Given the description of an element on the screen output the (x, y) to click on. 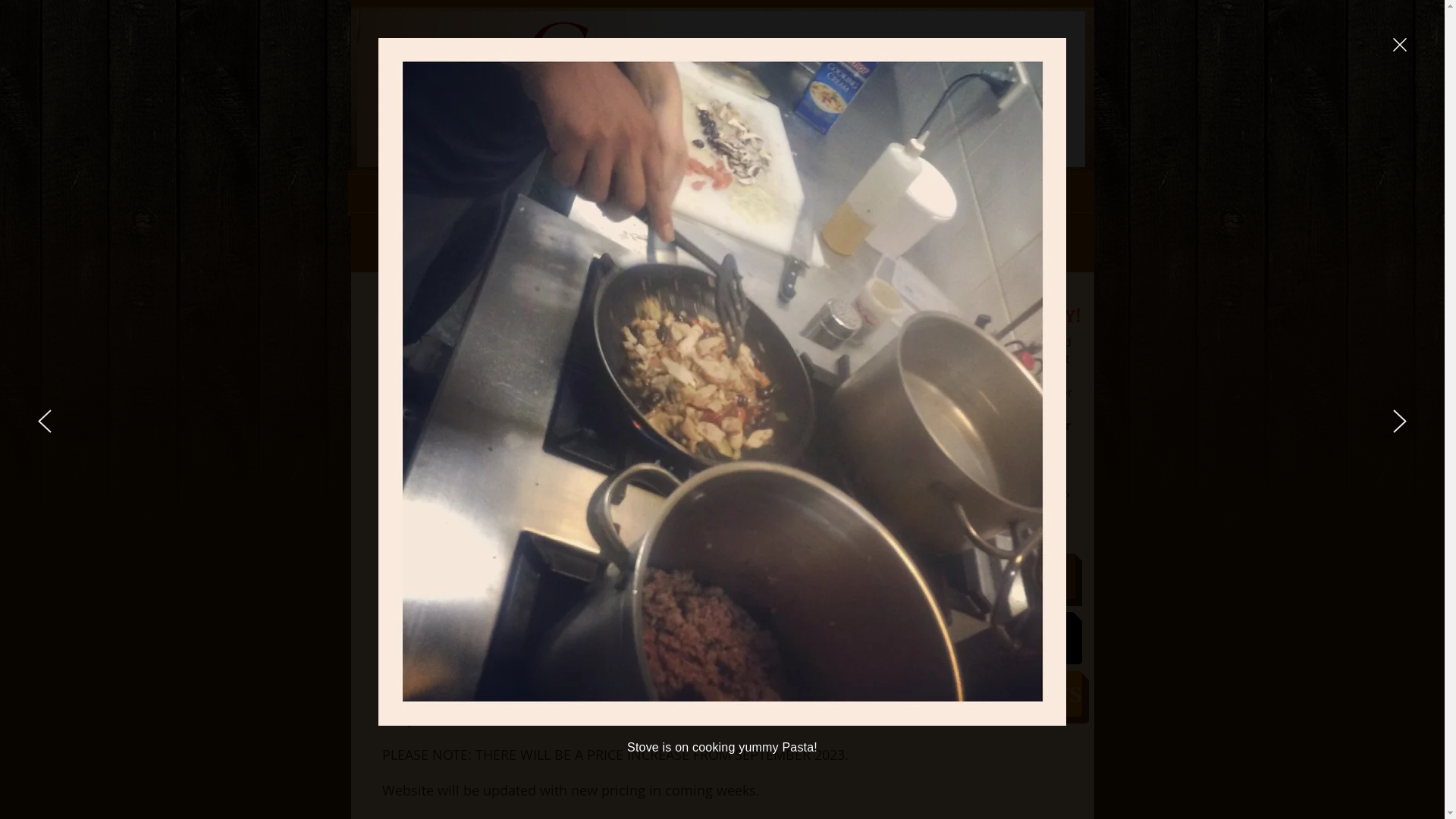
PASTA Element type: text (985, 633)
SIDES/DESSERTS Element type: text (989, 692)
PIZZA Element type: text (985, 576)
DELIVERY AREAS Element type: text (924, 192)
HOME Element type: text (521, 192)
header-bg.jpg Element type: hover (720, 88)
MENU Element type: text (789, 192)
ABOUT US Element type: text (655, 192)
